Given the description of an element on the screen output the (x, y) to click on. 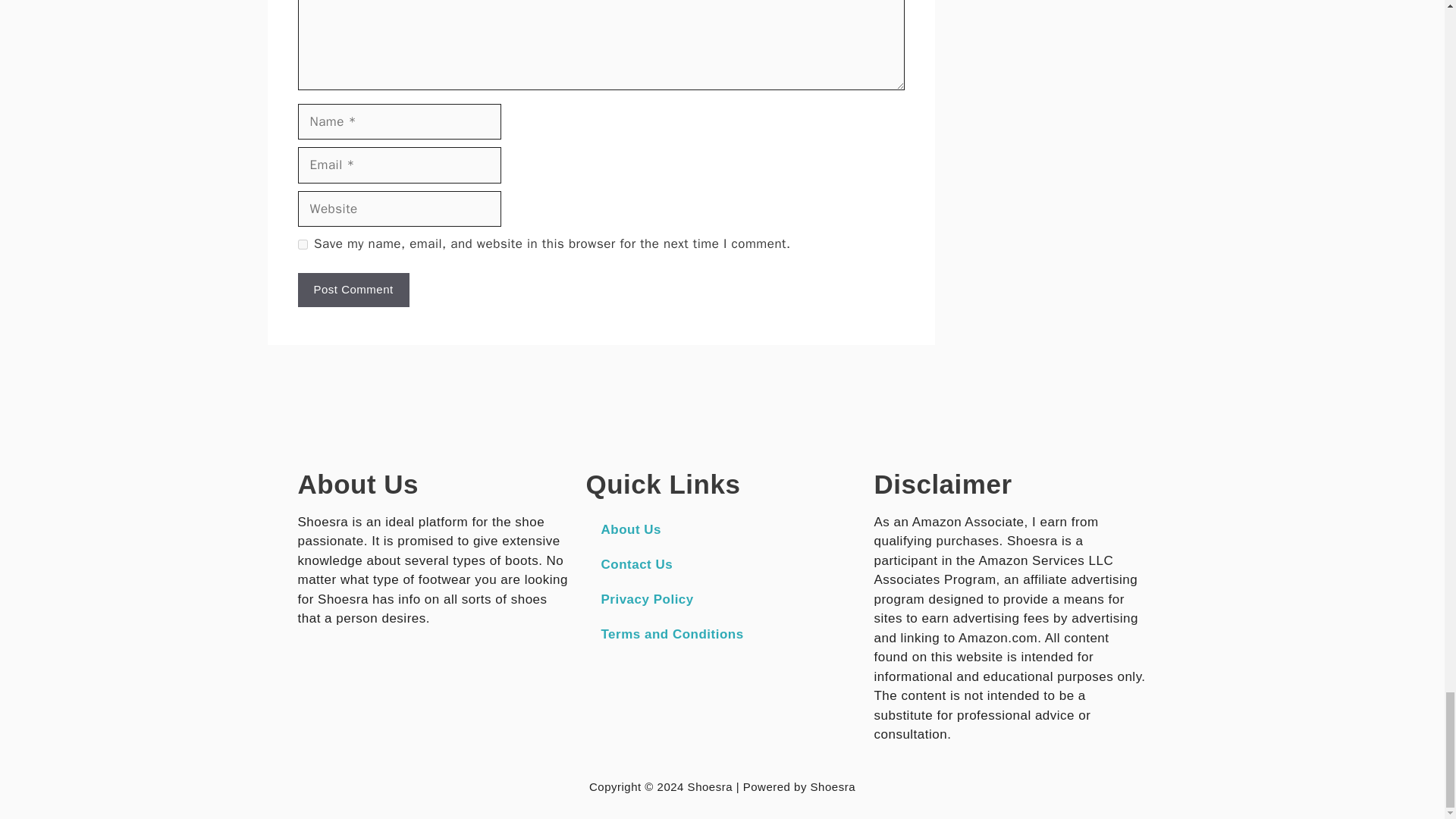
Post Comment (353, 289)
yes (302, 244)
About Us (722, 529)
Post Comment (353, 289)
Contact Us (722, 564)
